Given the description of an element on the screen output the (x, y) to click on. 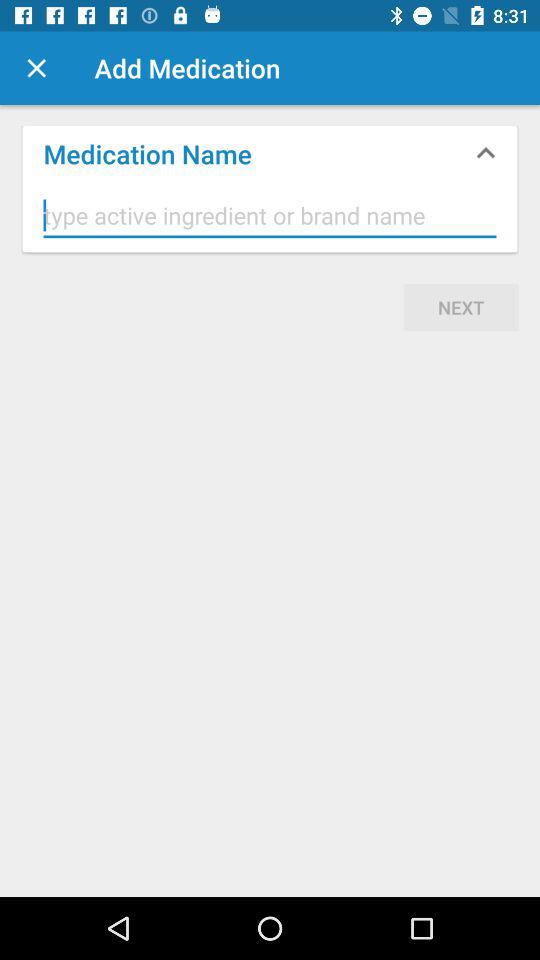
close add medication (36, 68)
